Given the description of an element on the screen output the (x, y) to click on. 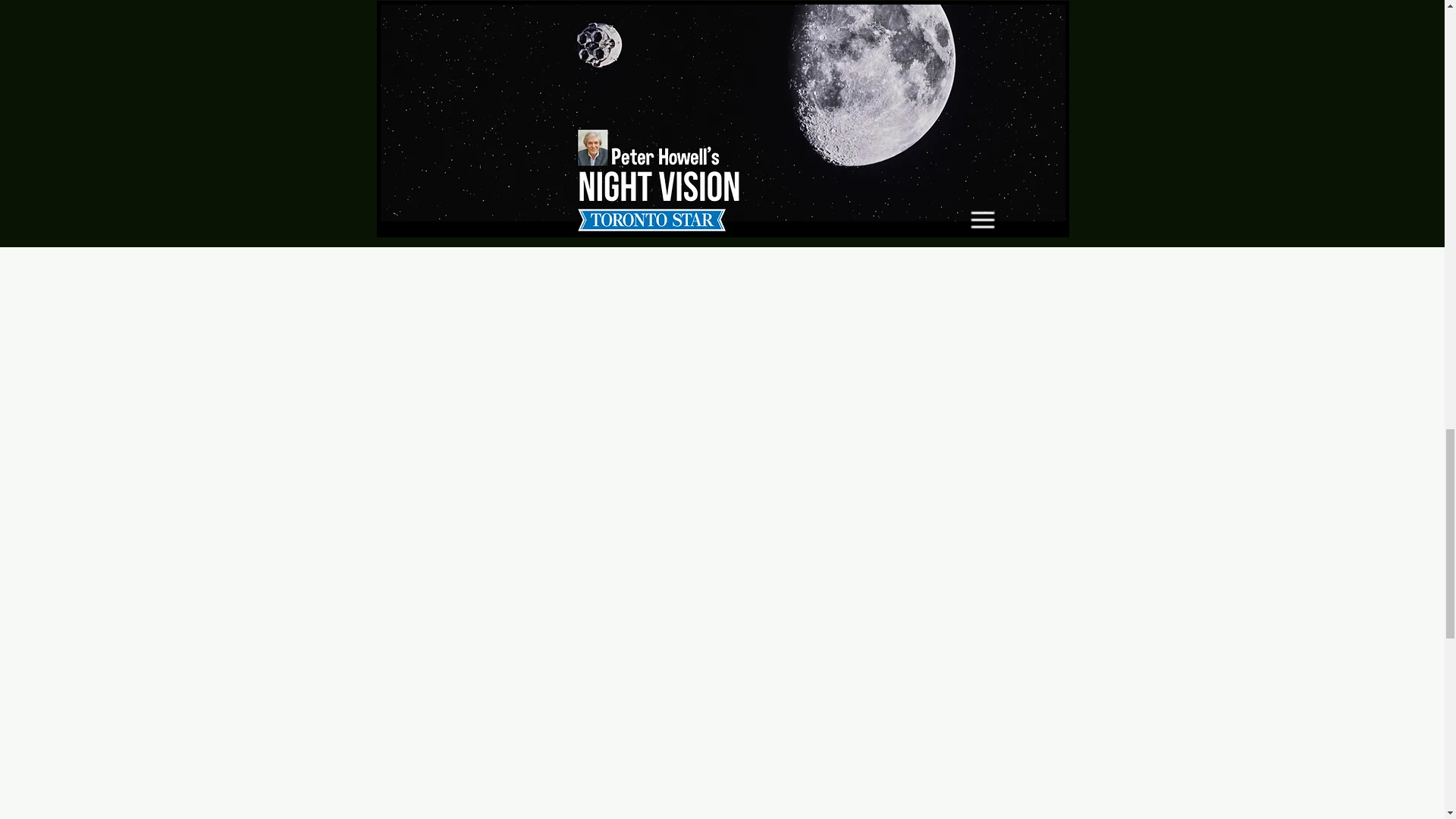
NightVizlogo22.jpeg (691, 5)
